Given the description of an element on the screen output the (x, y) to click on. 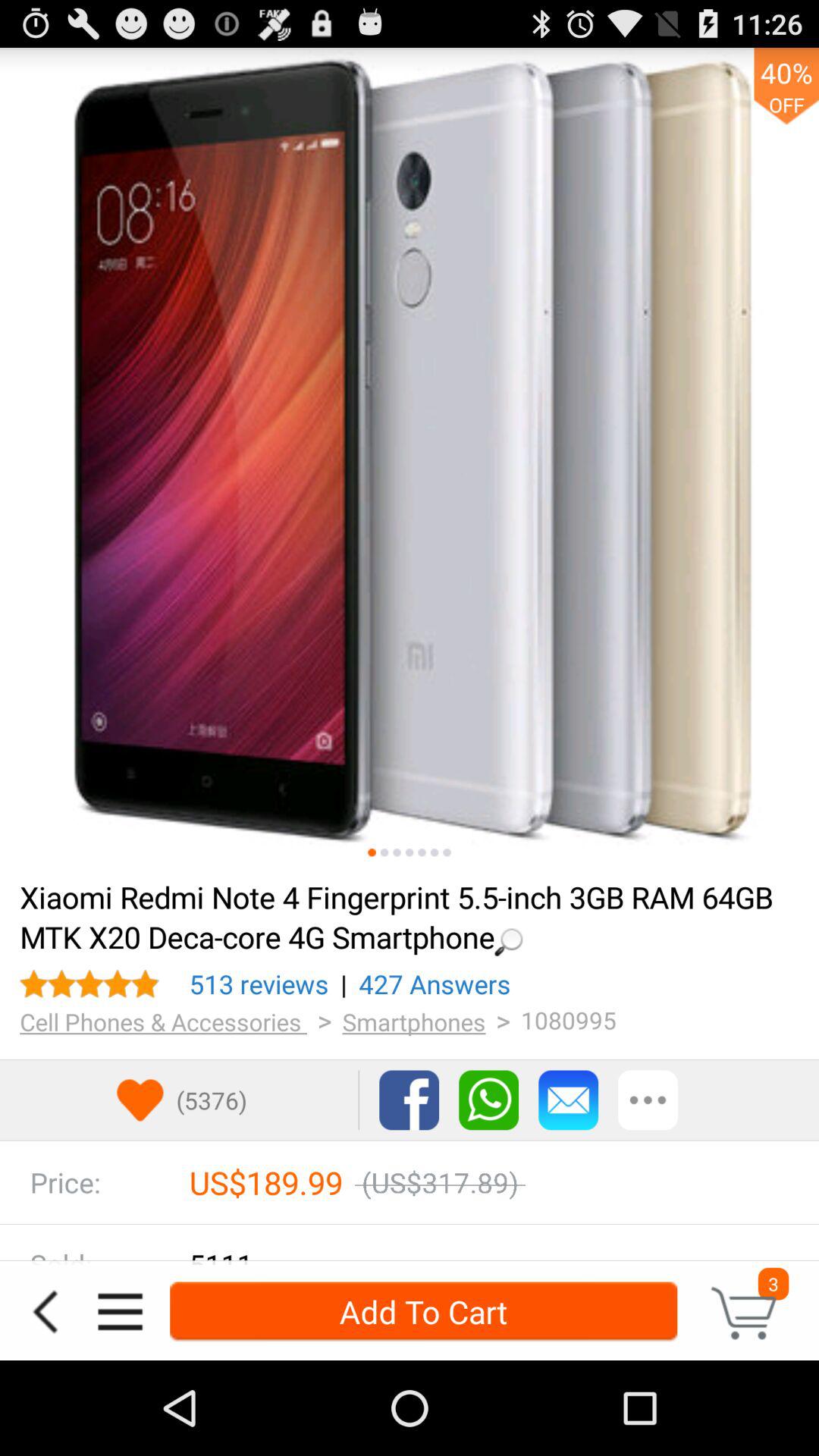
scroll through product images (409, 456)
